Given the description of an element on the screen output the (x, y) to click on. 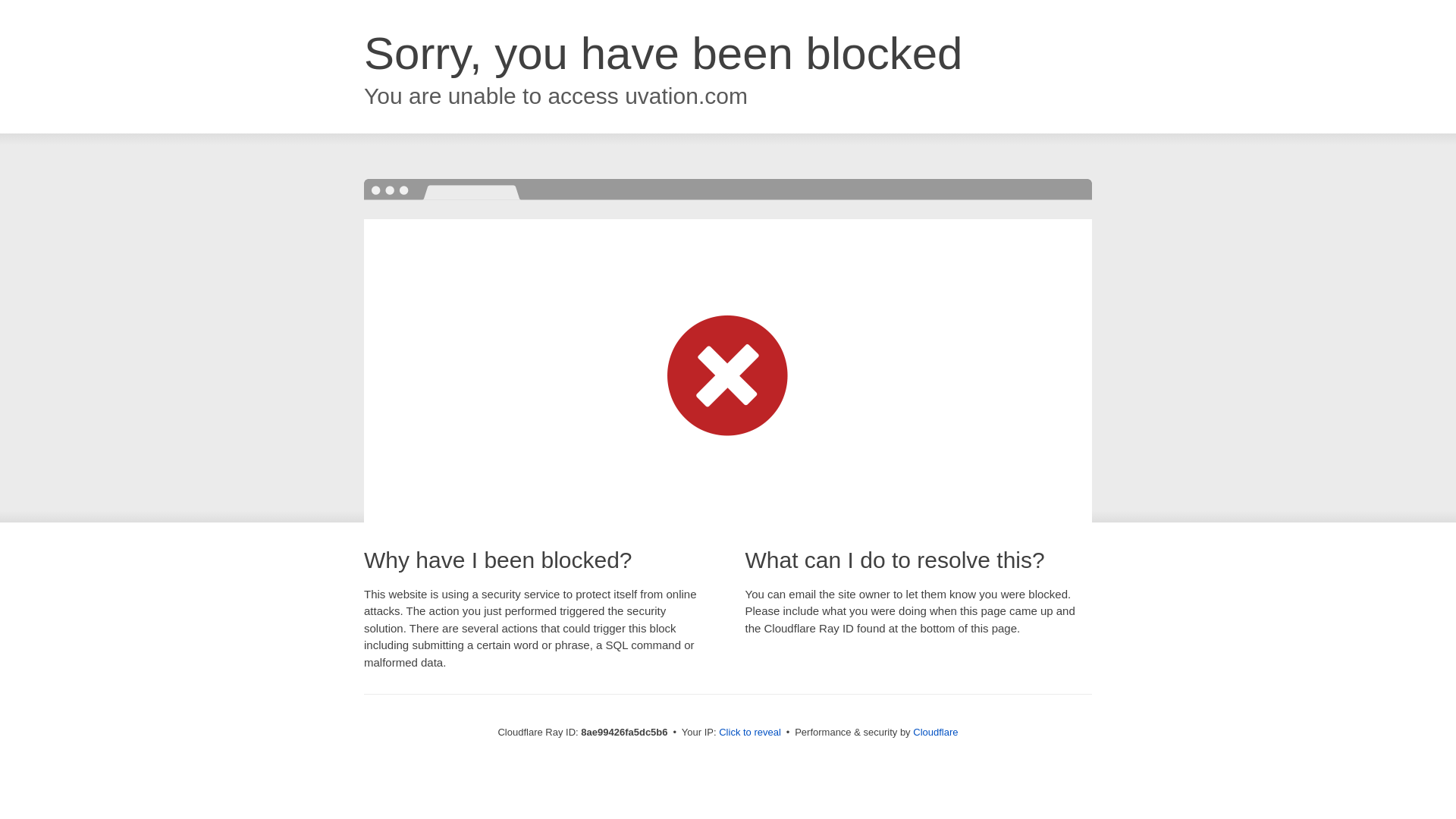
Click to reveal (749, 732)
Cloudflare (935, 731)
